Given the description of an element on the screen output the (x, y) to click on. 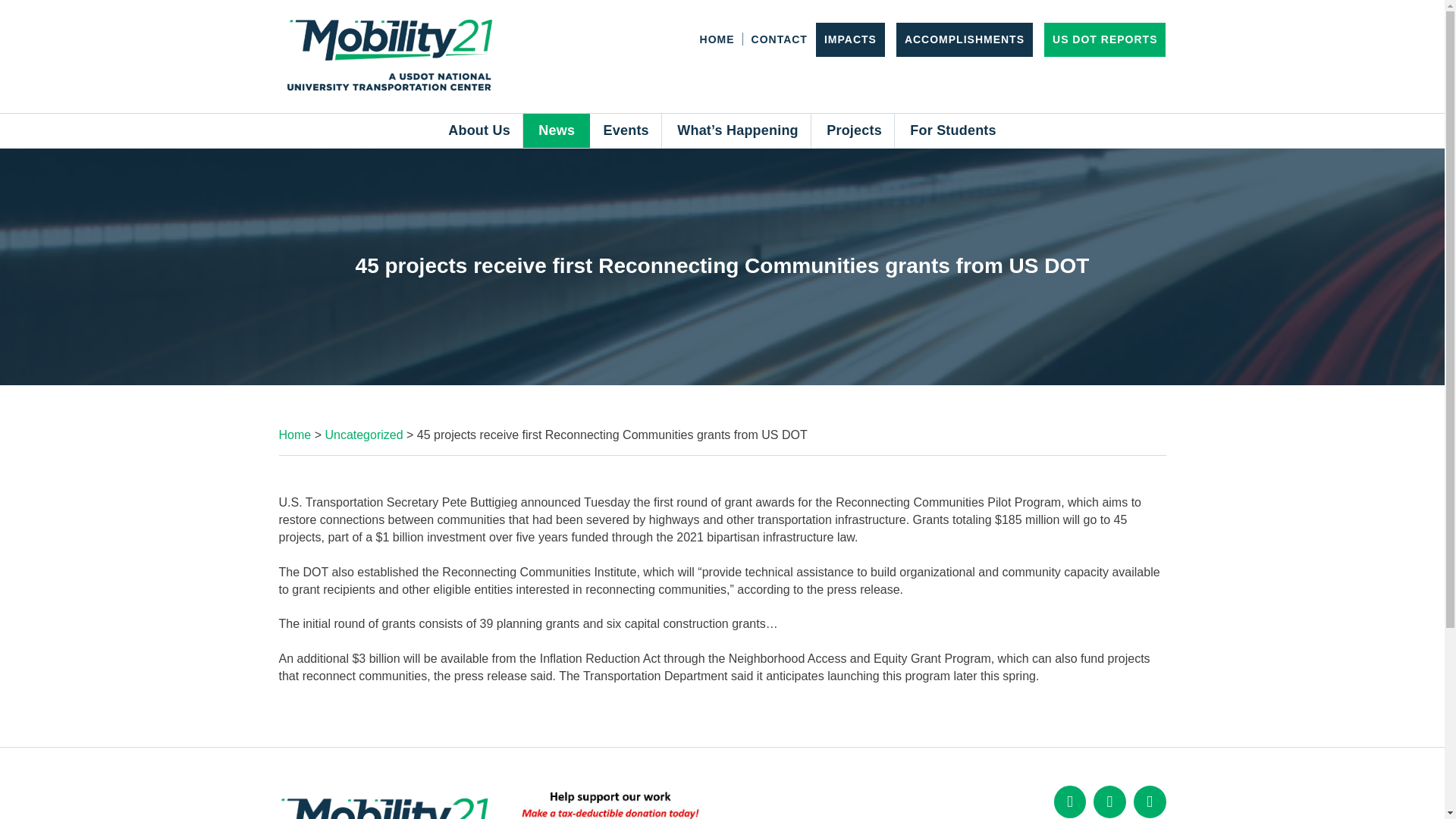
YouTube (1150, 801)
Go to the Uncategorized category archives. (363, 434)
IMPACTS (850, 39)
HOME (717, 39)
CONTACT (779, 39)
About Us (478, 130)
Twitter (1109, 801)
Go to M21. (295, 434)
Facebook (1070, 801)
US DOT REPORTS (1104, 39)
